Given the description of an element on the screen output the (x, y) to click on. 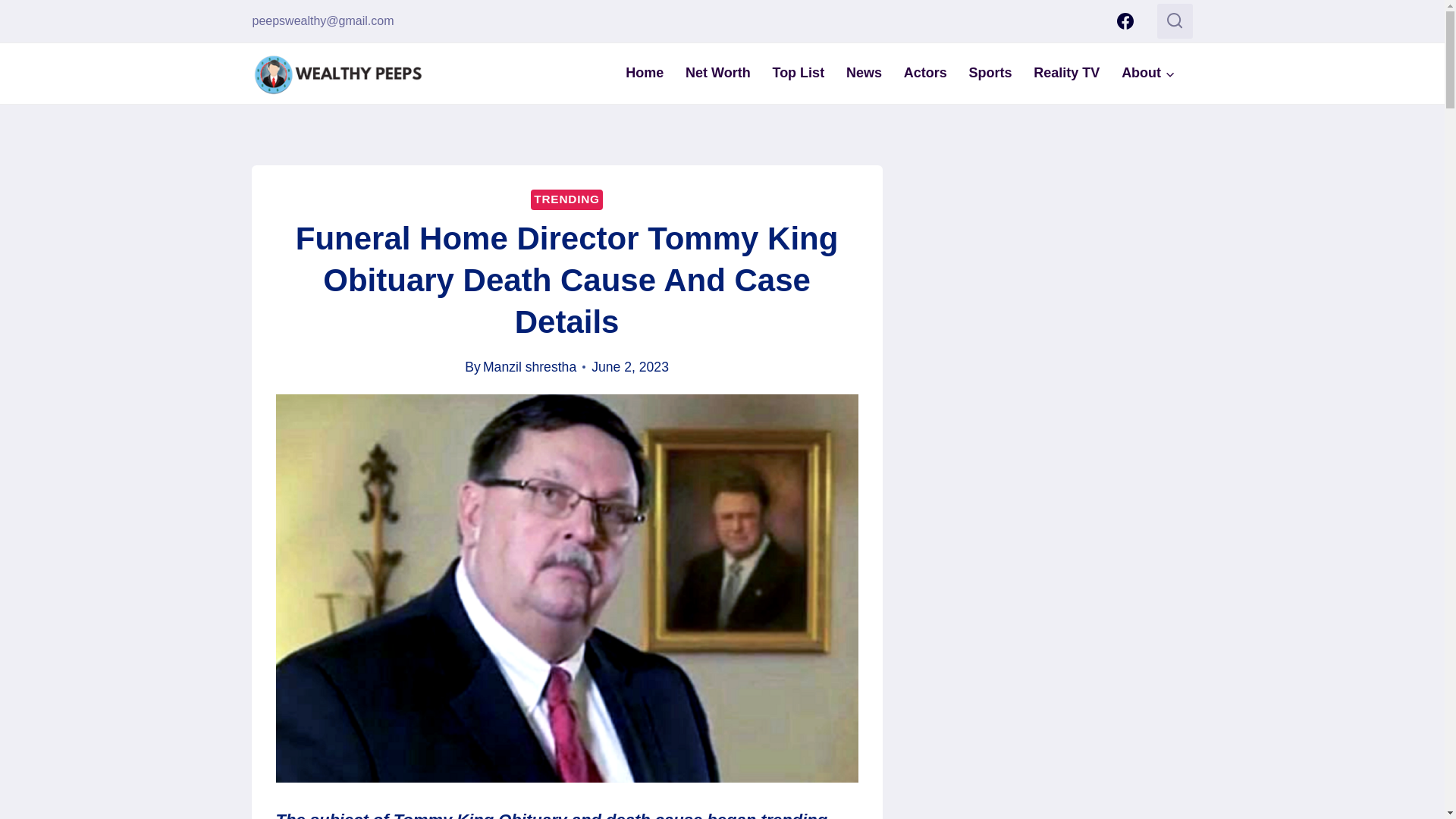
TRENDING (566, 199)
About (1148, 72)
Actors (925, 72)
News (864, 72)
Net Worth (718, 72)
Manzil shrestha (529, 366)
Sports (990, 72)
Home (644, 72)
Reality TV (1066, 72)
Top List (797, 72)
